Given the description of an element on the screen output the (x, y) to click on. 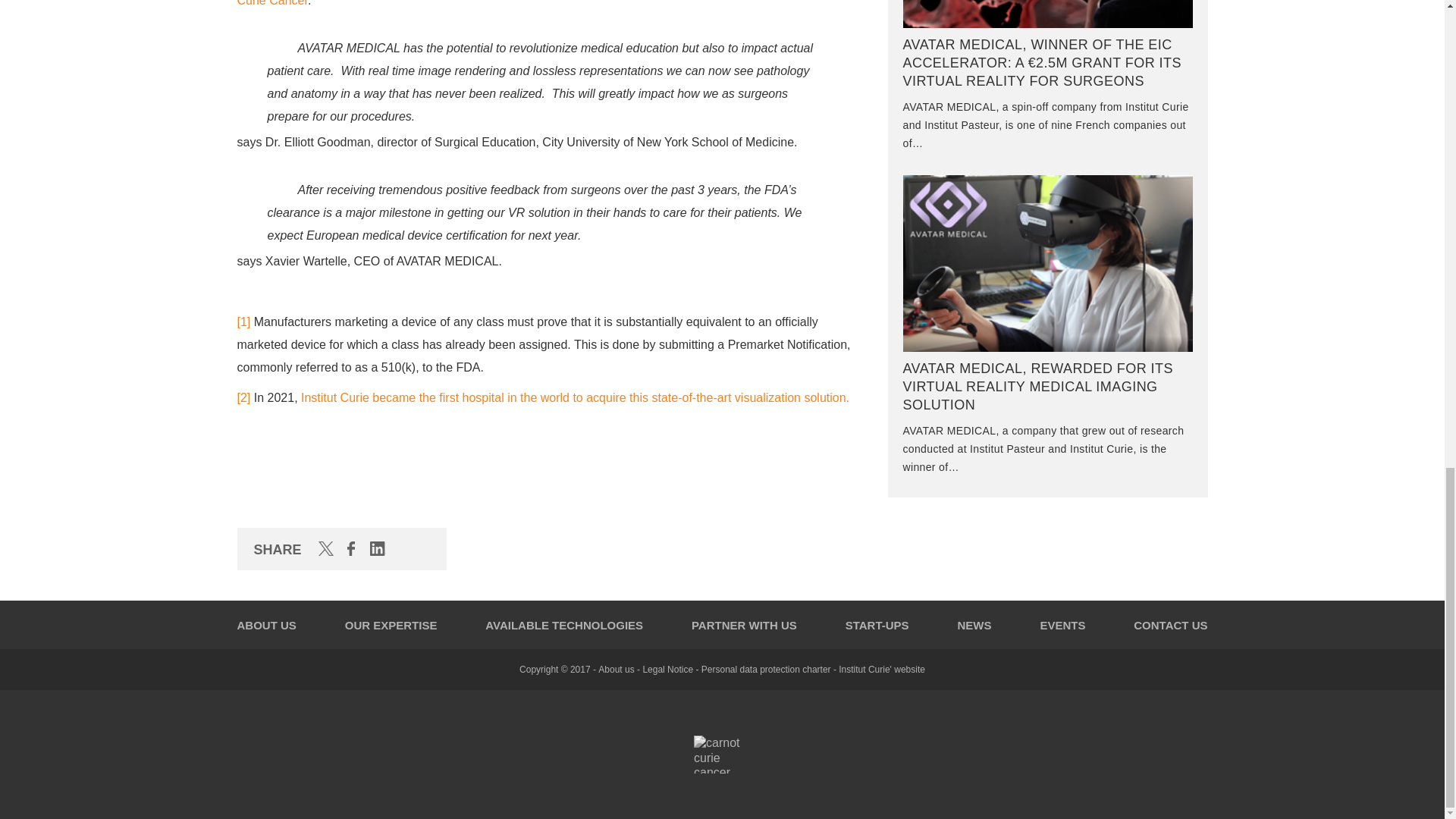
Events (1061, 625)
Institut Curie' website (881, 669)
About us (615, 669)
